Given the description of an element on the screen output the (x, y) to click on. 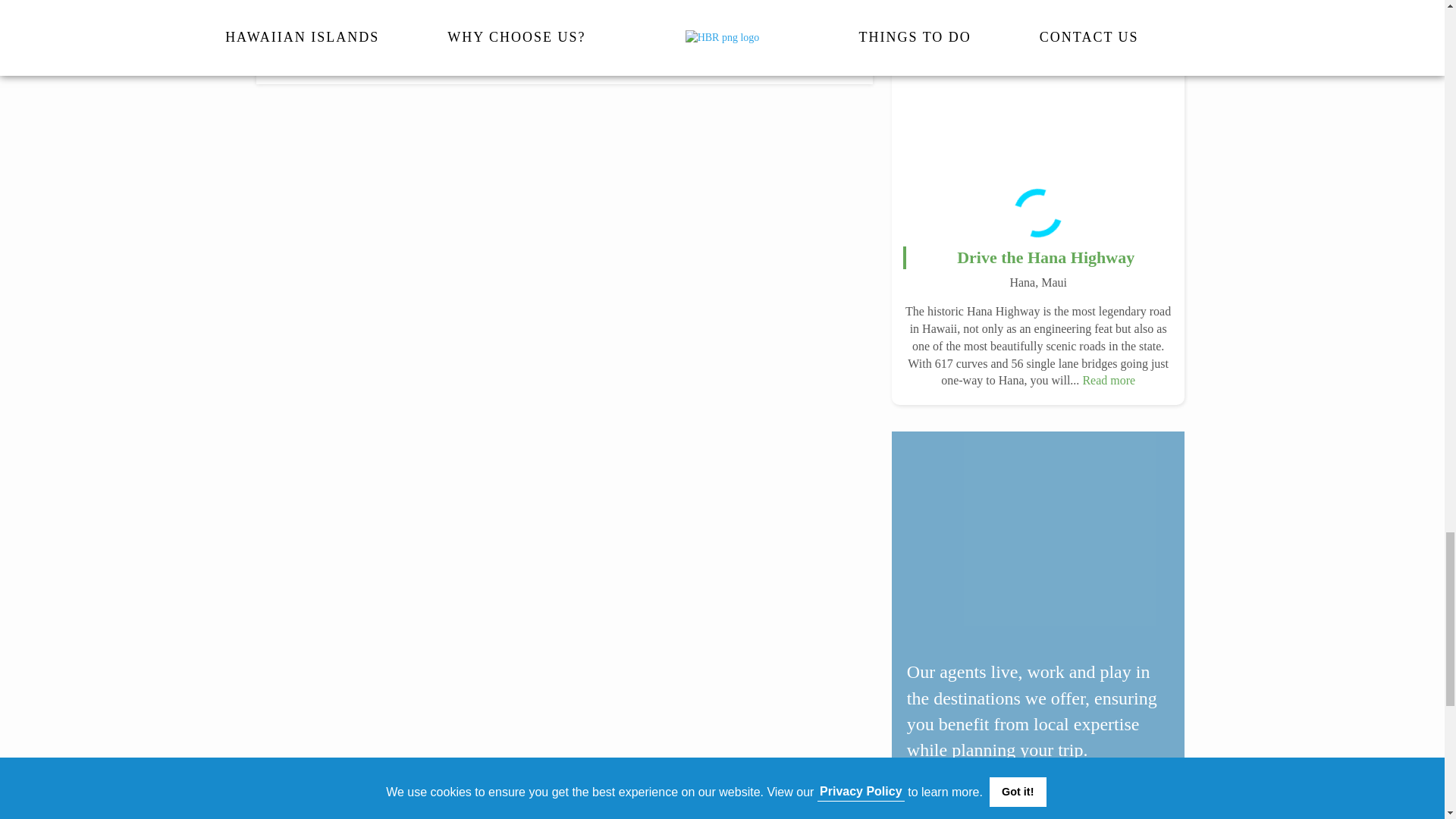
Submit (564, 44)
